Given the description of an element on the screen output the (x, y) to click on. 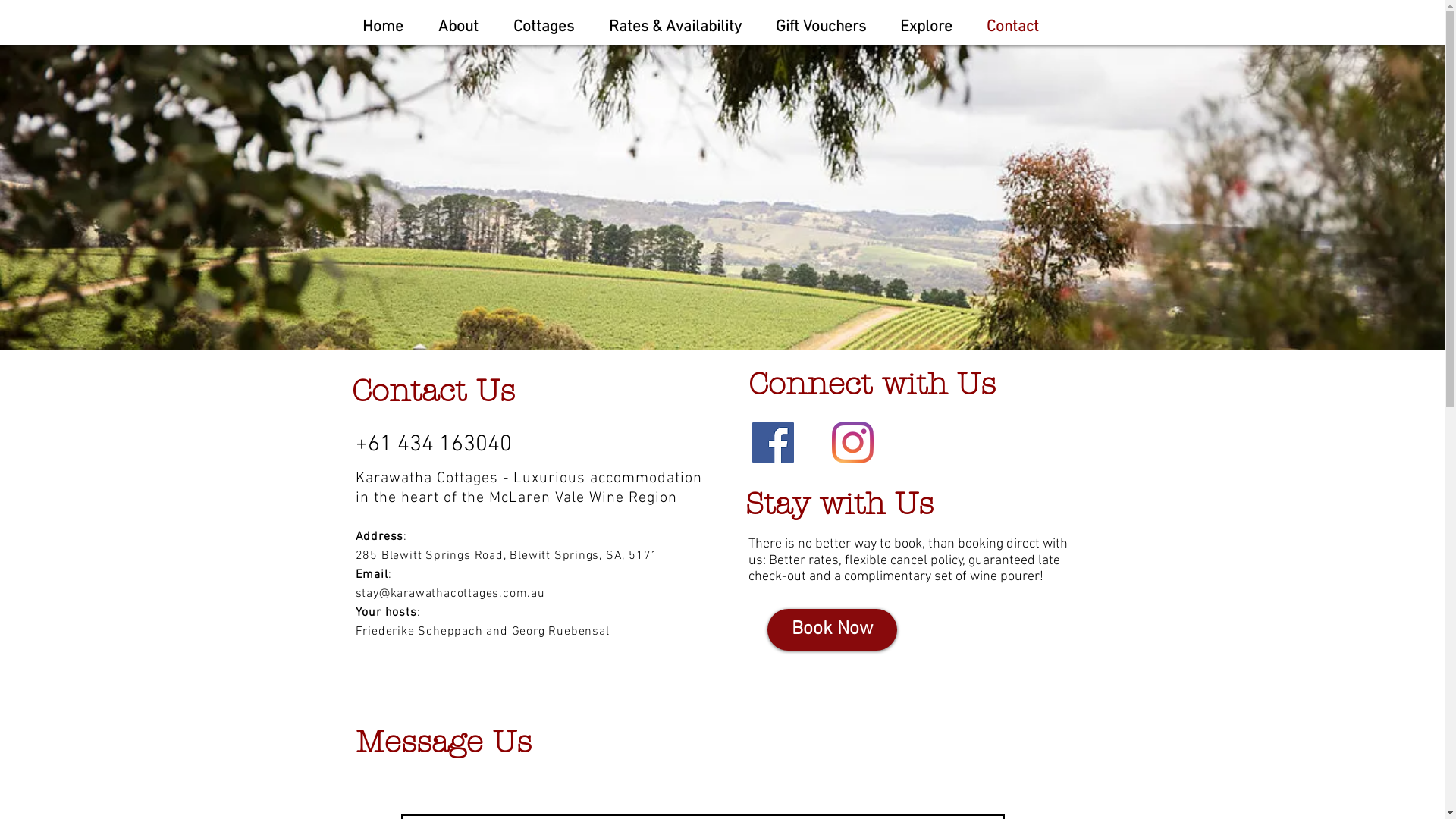
Home Element type: text (388, 24)
stay@karawathacottages.com.au Element type: text (449, 593)
Gift Vouchers Element type: text (826, 24)
Contact Element type: text (1018, 24)
Book Now Element type: text (832, 629)
